Given the description of an element on the screen output the (x, y) to click on. 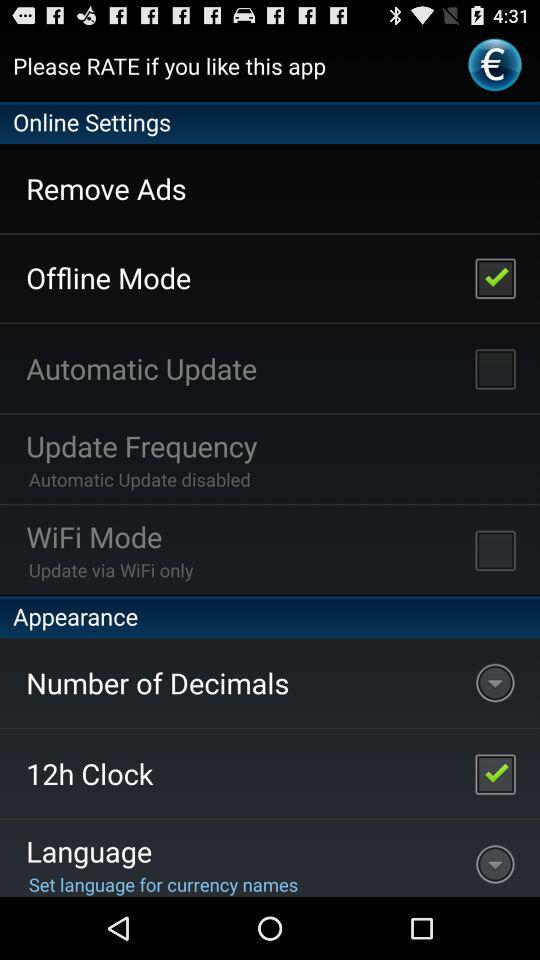
turn on wifi mode (495, 549)
